Given the description of an element on the screen output the (x, y) to click on. 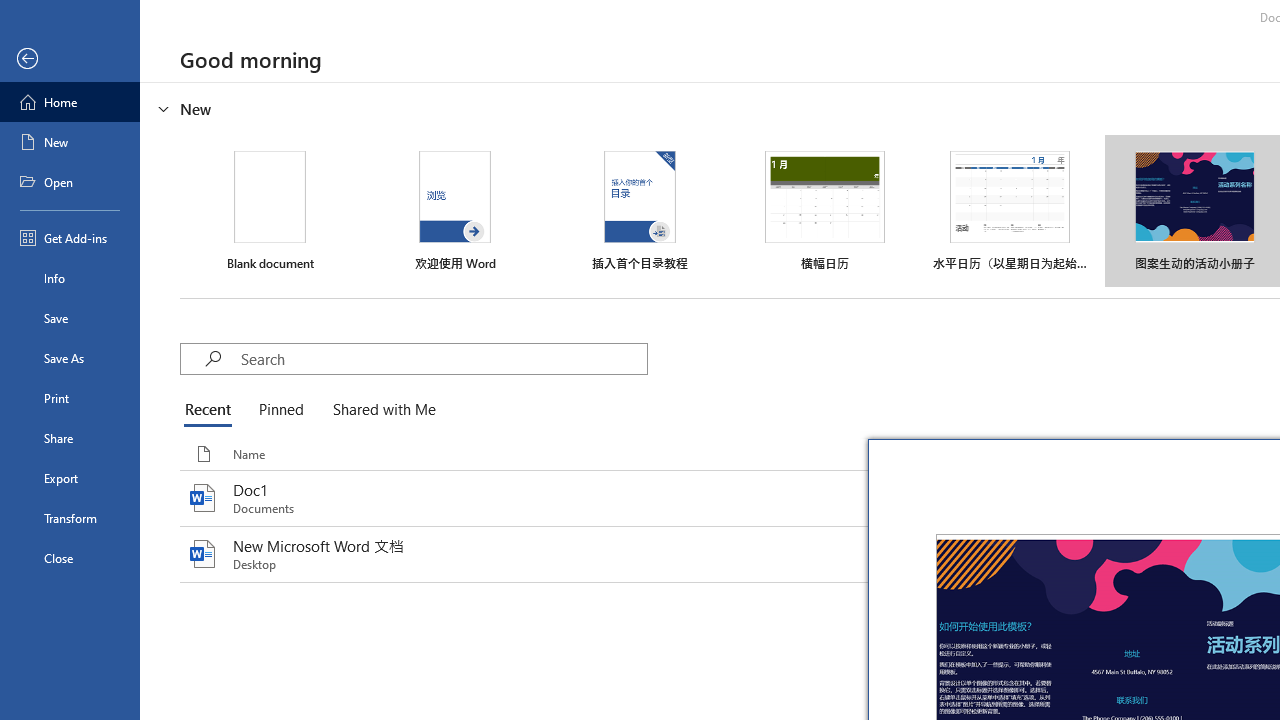
Shared with Me (379, 410)
Pinned (280, 410)
Save As (69, 357)
New (69, 141)
Print (69, 398)
Info (69, 277)
Get Add-ins (69, 237)
